Given the description of an element on the screen output the (x, y) to click on. 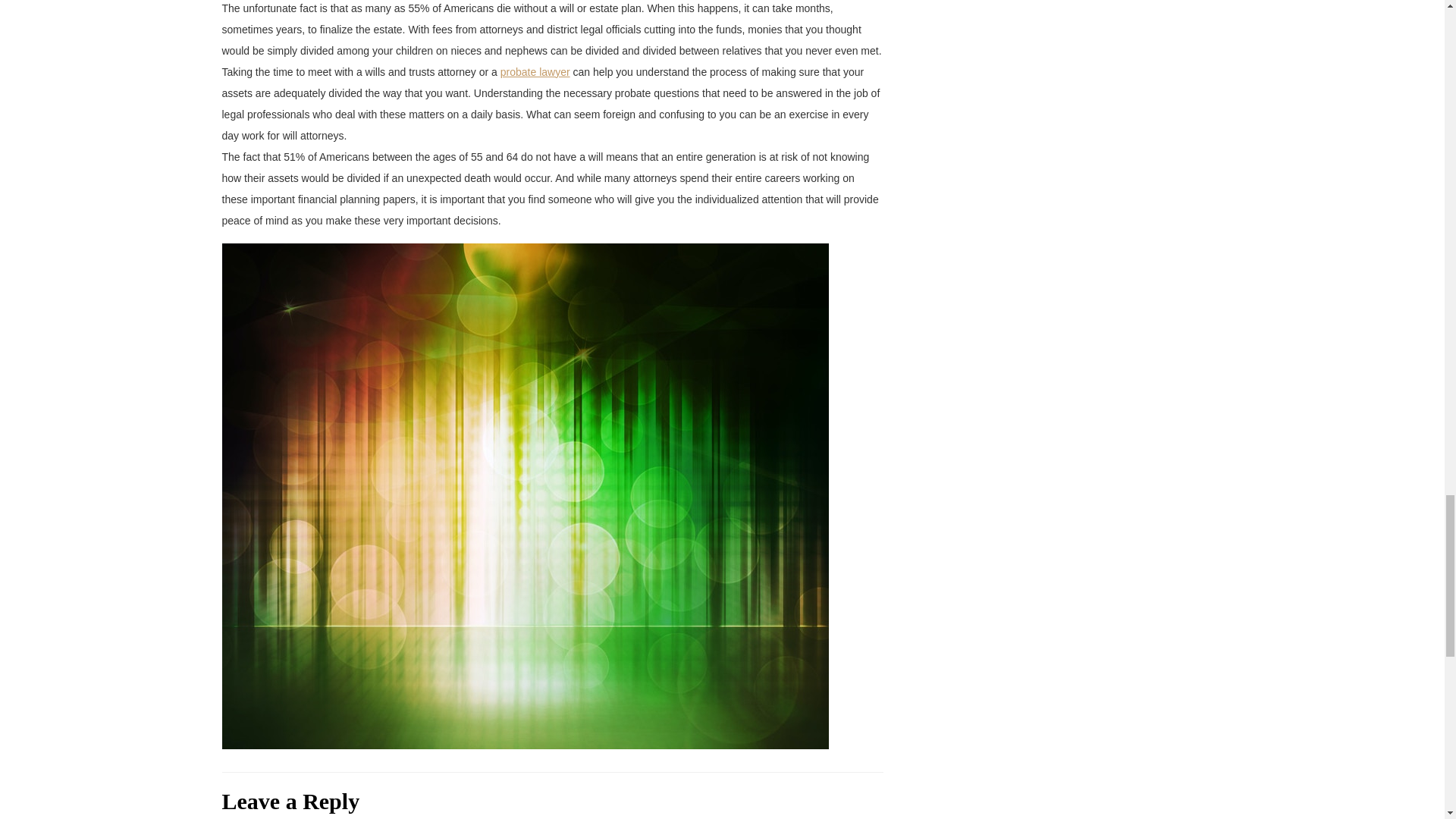
probate lawyer (535, 71)
Estate attorney san francisco, San francisco probate (535, 71)
